Given the description of an element on the screen output the (x, y) to click on. 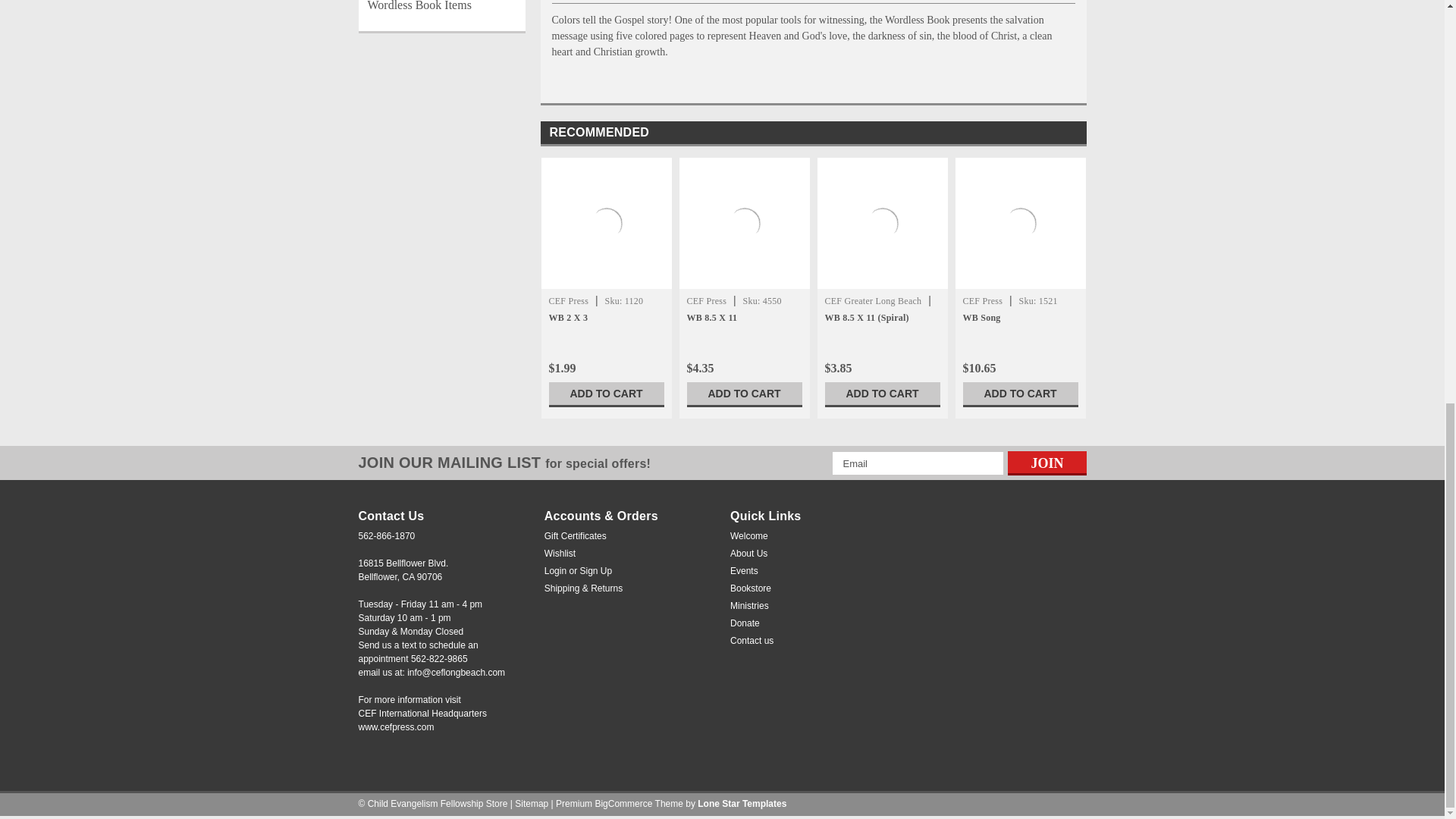
WB 8.5 X 11 (743, 223)
Join (1046, 463)
WB 2 X 3 (605, 223)
